Given the description of an element on the screen output the (x, y) to click on. 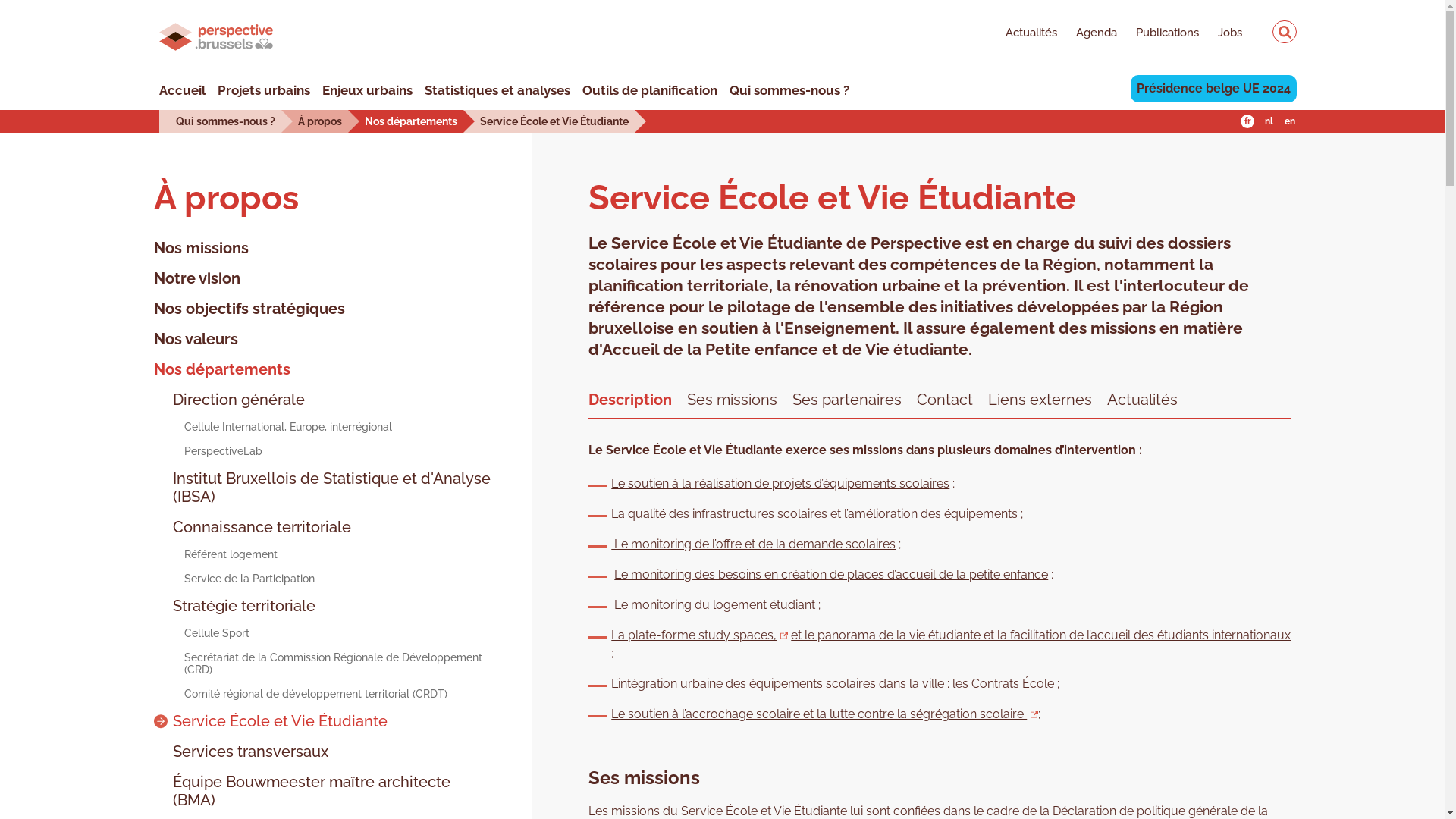
Appliquer Element type: text (1284, 31)
Liens externes Element type: text (1040, 397)
Qui sommes-nous ? Element type: text (789, 89)
Projets urbains Element type: text (263, 89)
Nos missions Element type: text (200, 247)
Cellule Sport Element type: text (200, 633)
nl Element type: text (1268, 121)
Ses partenaires Element type: text (846, 397)
Connaissance territoriale Element type: text (251, 526)
PerspectiveLab Element type: text (207, 451)
Contact Element type: text (944, 397)
Agenda Element type: text (1087, 33)
Enjeux urbains Element type: text (367, 89)
en Element type: text (1289, 121)
Publications Element type: text (1157, 33)
Jobs Element type: text (1220, 33)
Qui sommes-nous ? Element type: text (225, 120)
Notre vision Element type: text (196, 278)
Statistiques et analyses Element type: text (497, 89)
La plate-forme study spaces, Element type: text (699, 634)
Accueil Element type: text (182, 89)
Ses missions Element type: text (732, 397)
Service de la Participation Element type: text (233, 578)
Description Element type: text (629, 397)
fr Element type: text (1247, 121)
Institut Bruxellois de Statistique et d'Analyse (IBSA) Element type: text (322, 487)
Outils de planification Element type: text (649, 89)
Services transversaux Element type: text (240, 751)
Nos valeurs Element type: text (195, 338)
